Given the description of an element on the screen output the (x, y) to click on. 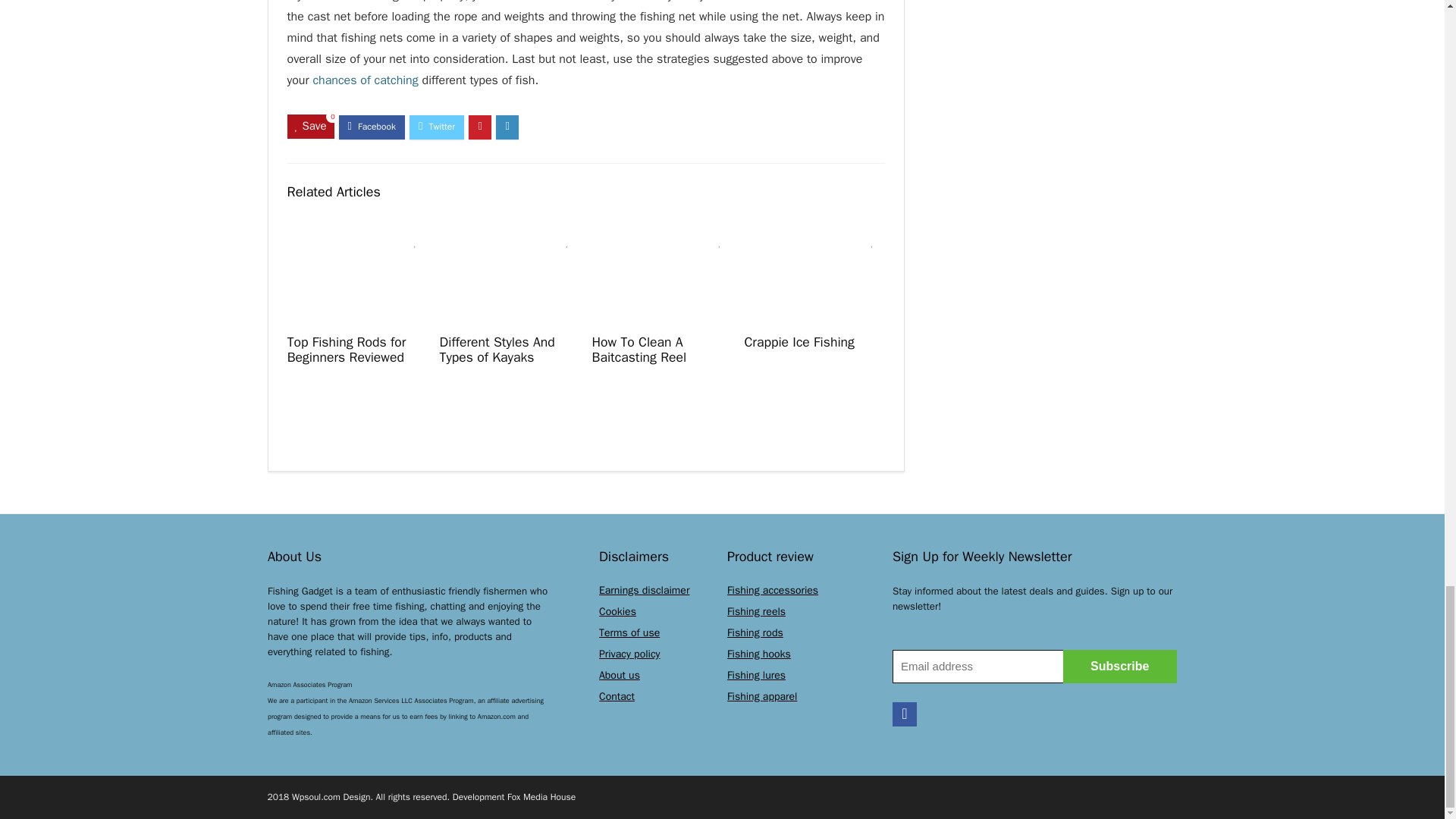
chances of catching (365, 79)
How To Clean A Baitcasting Reel (638, 349)
Different Styles And Types of Kayaks (496, 349)
Top Fishing Rods for Beginners Reviewed (346, 349)
Crappie Ice Fishing (798, 341)
Subscribe (1119, 666)
